Given the description of an element on the screen output the (x, y) to click on. 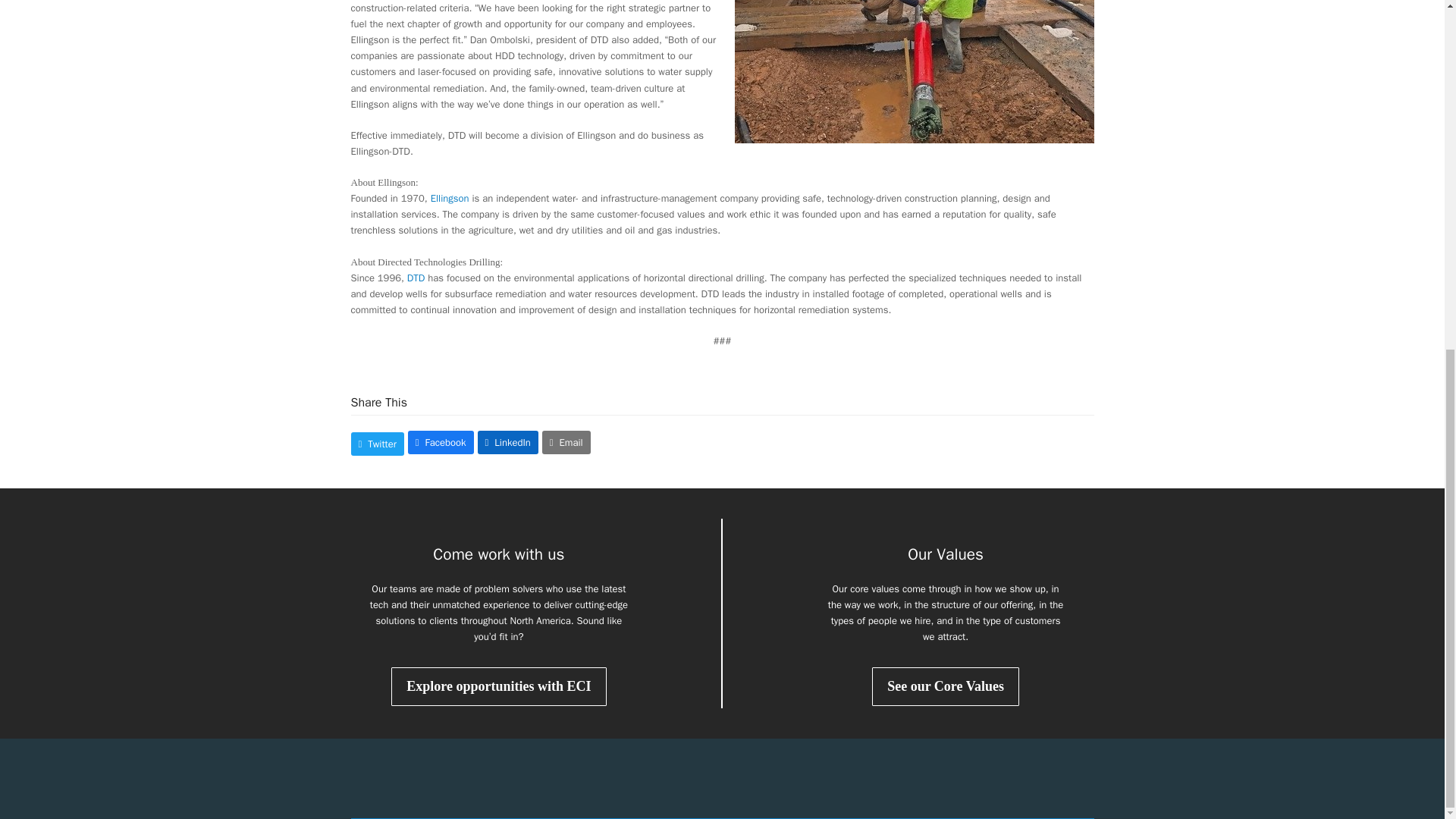
Ellingson (449, 197)
Twitter (376, 443)
LinkedIn (507, 442)
Facebook (440, 442)
See our Core Values (946, 686)
Email (566, 442)
Explore opportunities with ECI (499, 686)
DTD (416, 277)
